Given the description of an element on the screen output the (x, y) to click on. 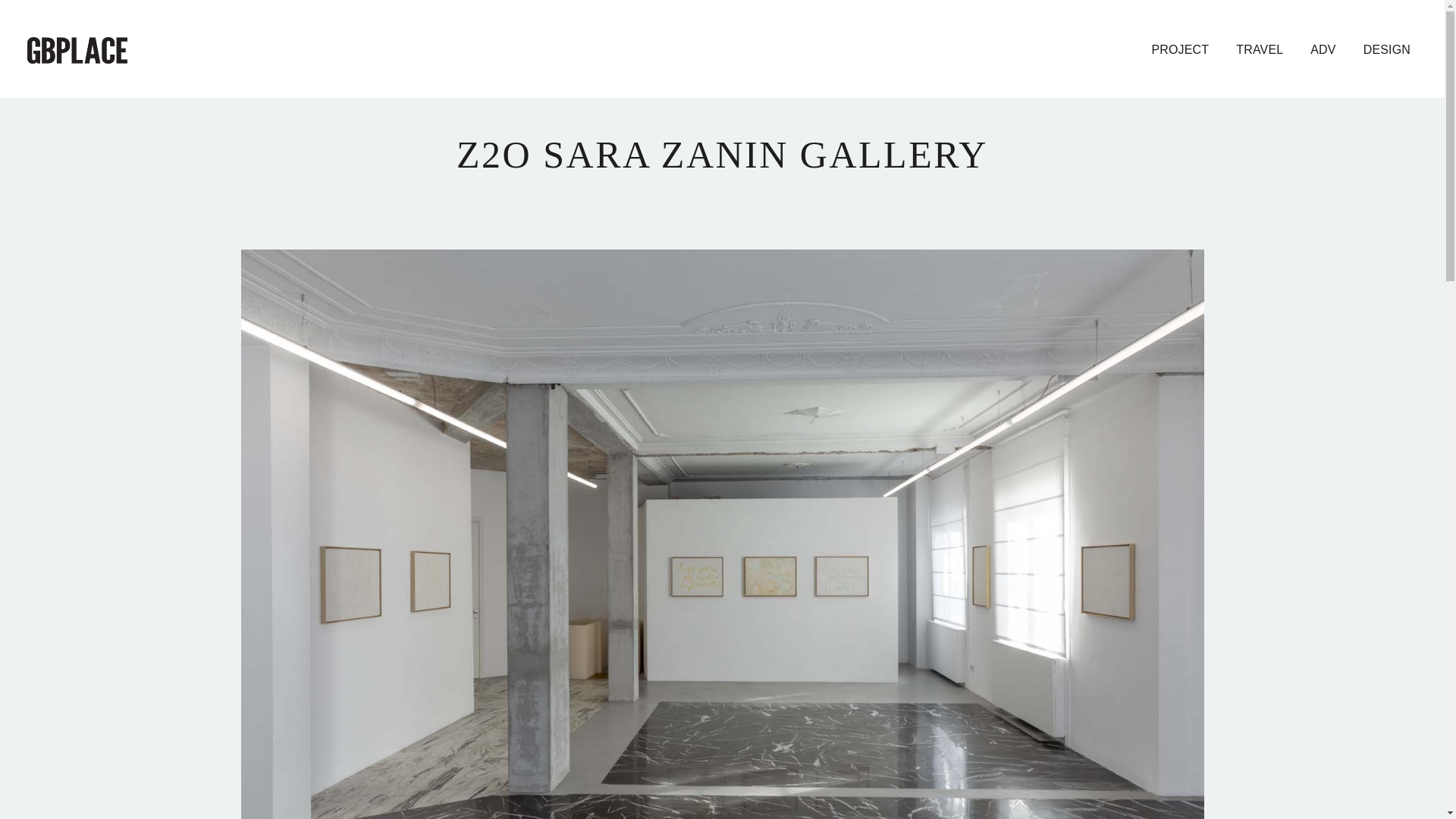
ADV (1323, 49)
DESIGN (1386, 49)
PROJECT (1180, 49)
TRAVEL (1260, 49)
